Given the description of an element on the screen output the (x, y) to click on. 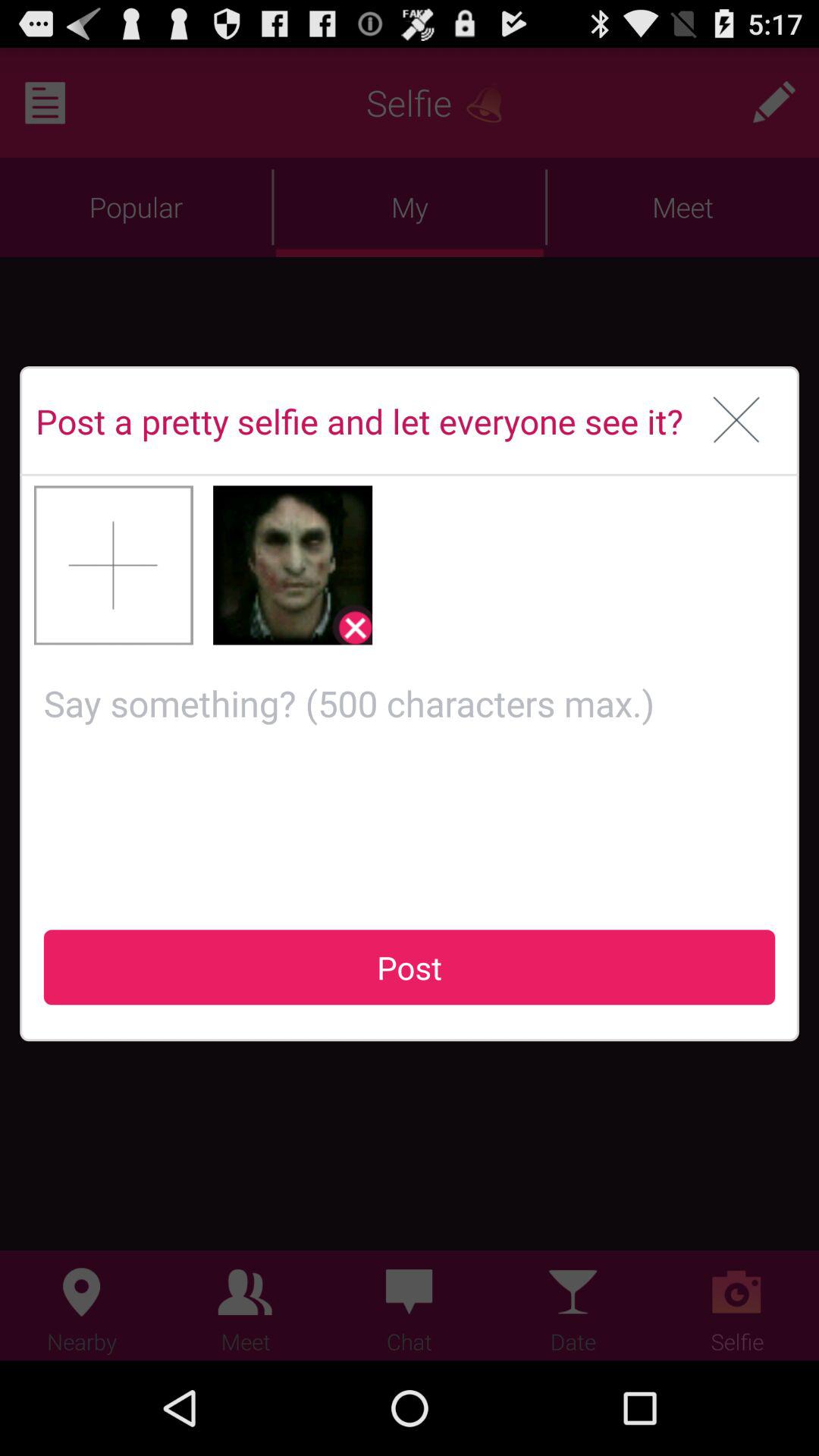
comment field (409, 774)
